Given the description of an element on the screen output the (x, y) to click on. 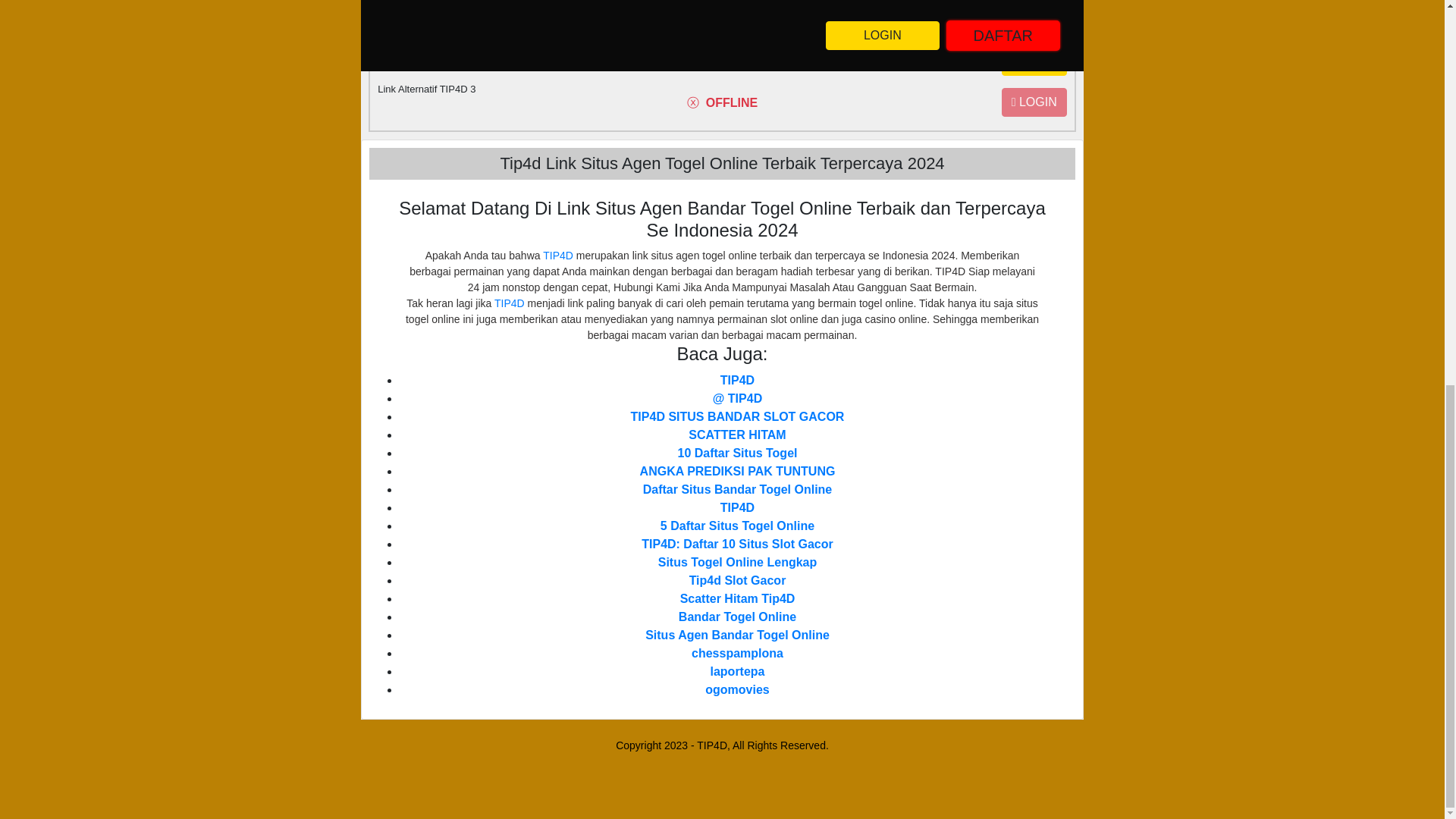
TIP4D (737, 379)
SCATTER HITAM (737, 434)
Situs Agen Bandar Togel Online (737, 634)
TIP4D (509, 303)
5 Daftar Situs Togel Online (737, 525)
ANGKA PREDIKSI PAK TUNTUNG (737, 471)
 LOGIN (1034, 102)
TIP4D (558, 255)
 LOGIN (1034, 61)
chesspamplona (737, 653)
10 Daftar Situs Togel (737, 452)
Daftar Situs Bandar Togel Online (737, 489)
ogomovies (736, 689)
TIP4D SITUS BANDAR SLOT GACOR (737, 416)
TIP4D: Daftar 10 Situs Slot Gacor (737, 543)
